Given the description of an element on the screen output the (x, y) to click on. 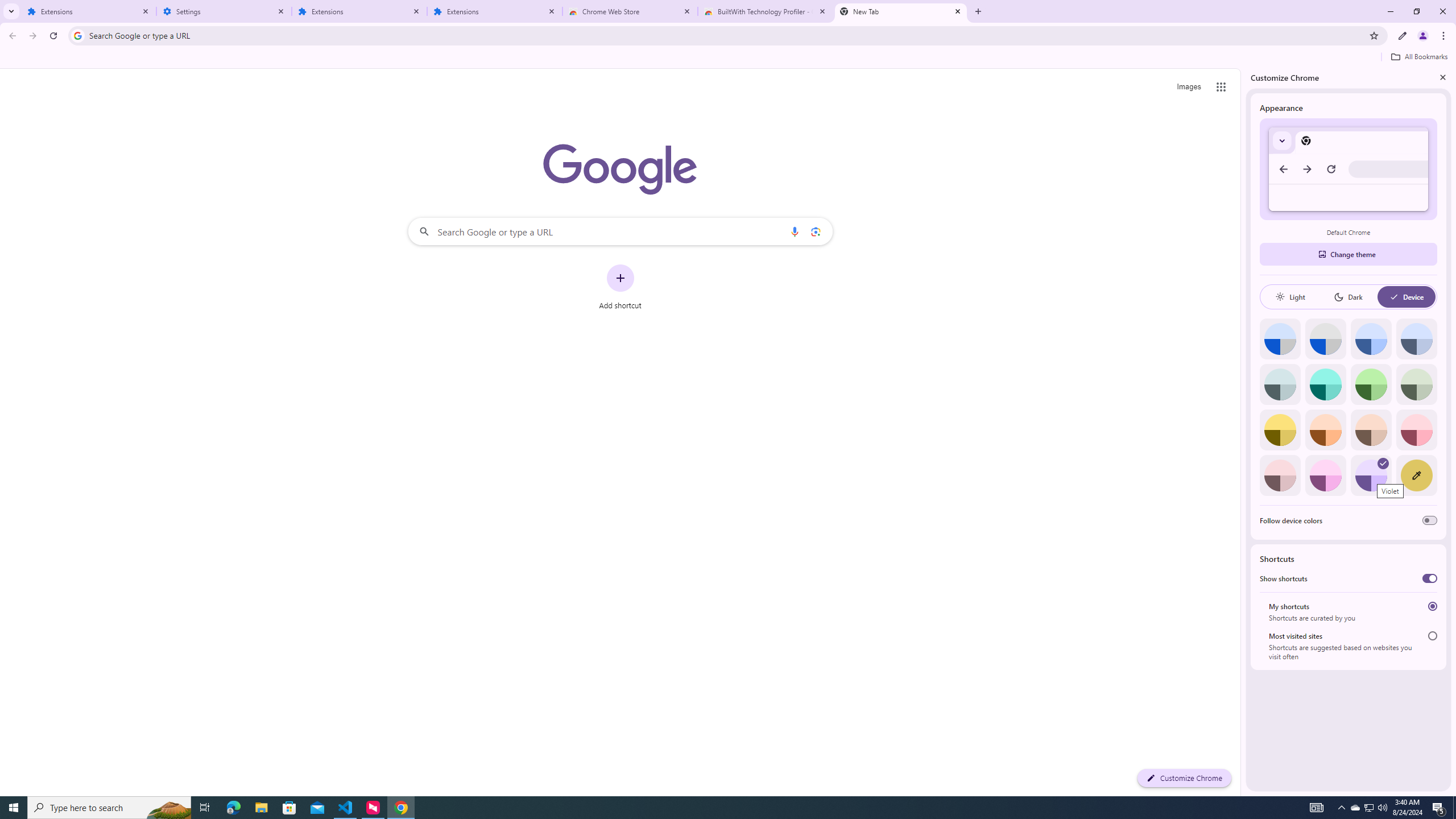
Follow device colors (1429, 519)
Grey (1279, 383)
Custom color (1416, 475)
BuiltWith Technology Profiler - Chrome Web Store (765, 11)
Violet (1371, 475)
Orange (1325, 429)
Blue (1371, 338)
Aqua (1325, 383)
AutomationID: svg (1383, 463)
Settings (224, 11)
Viridian (1416, 383)
